Given the description of an element on the screen output the (x, y) to click on. 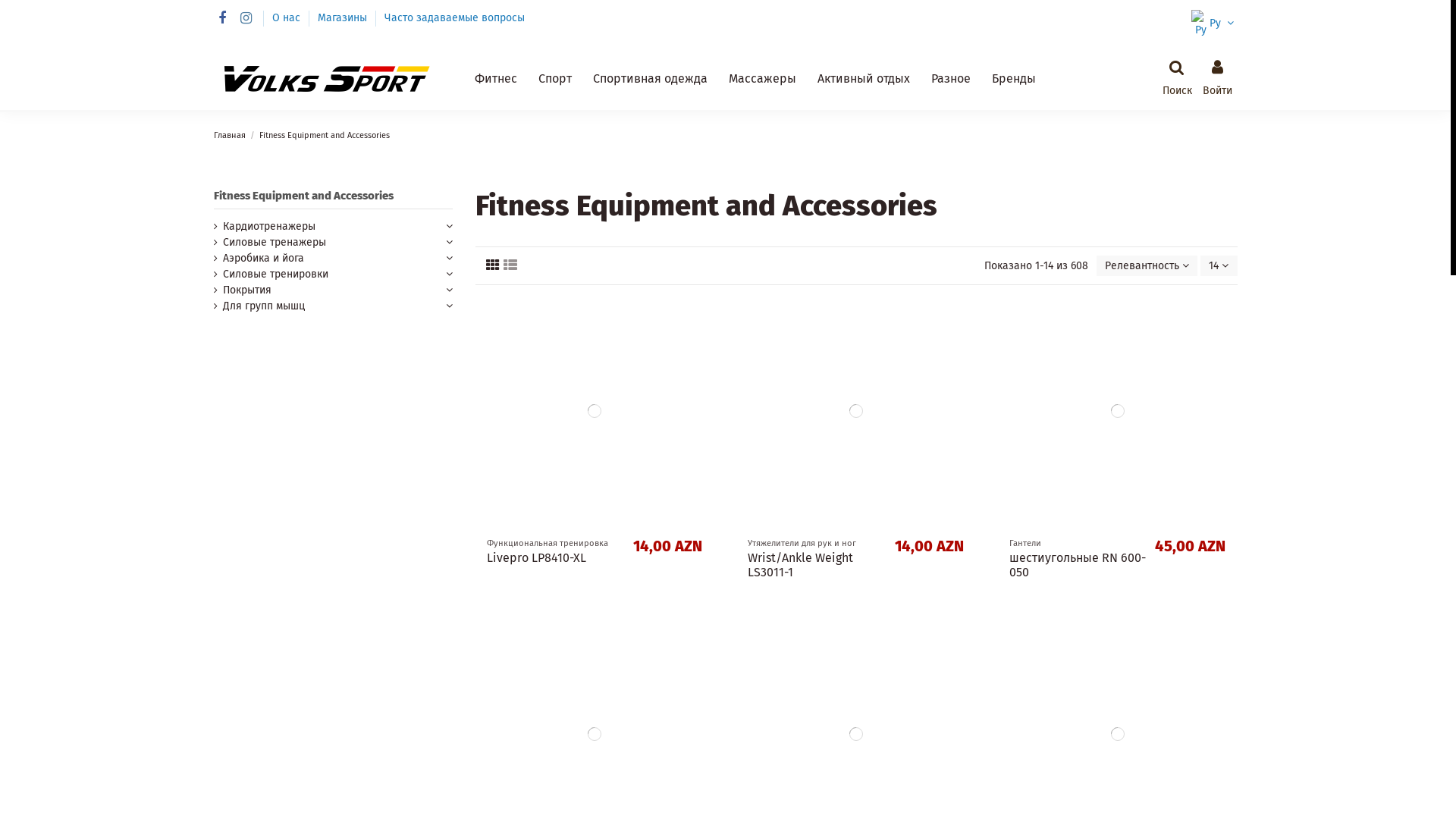
Livepro LP8410-XL Element type: text (536, 557)
Fitness Equipment and Accessories Element type: text (303, 195)
Wrist/Ankle Weight LS3011-1 Element type: text (800, 564)
14 Element type: text (1218, 265)
